Given the description of an element on the screen output the (x, y) to click on. 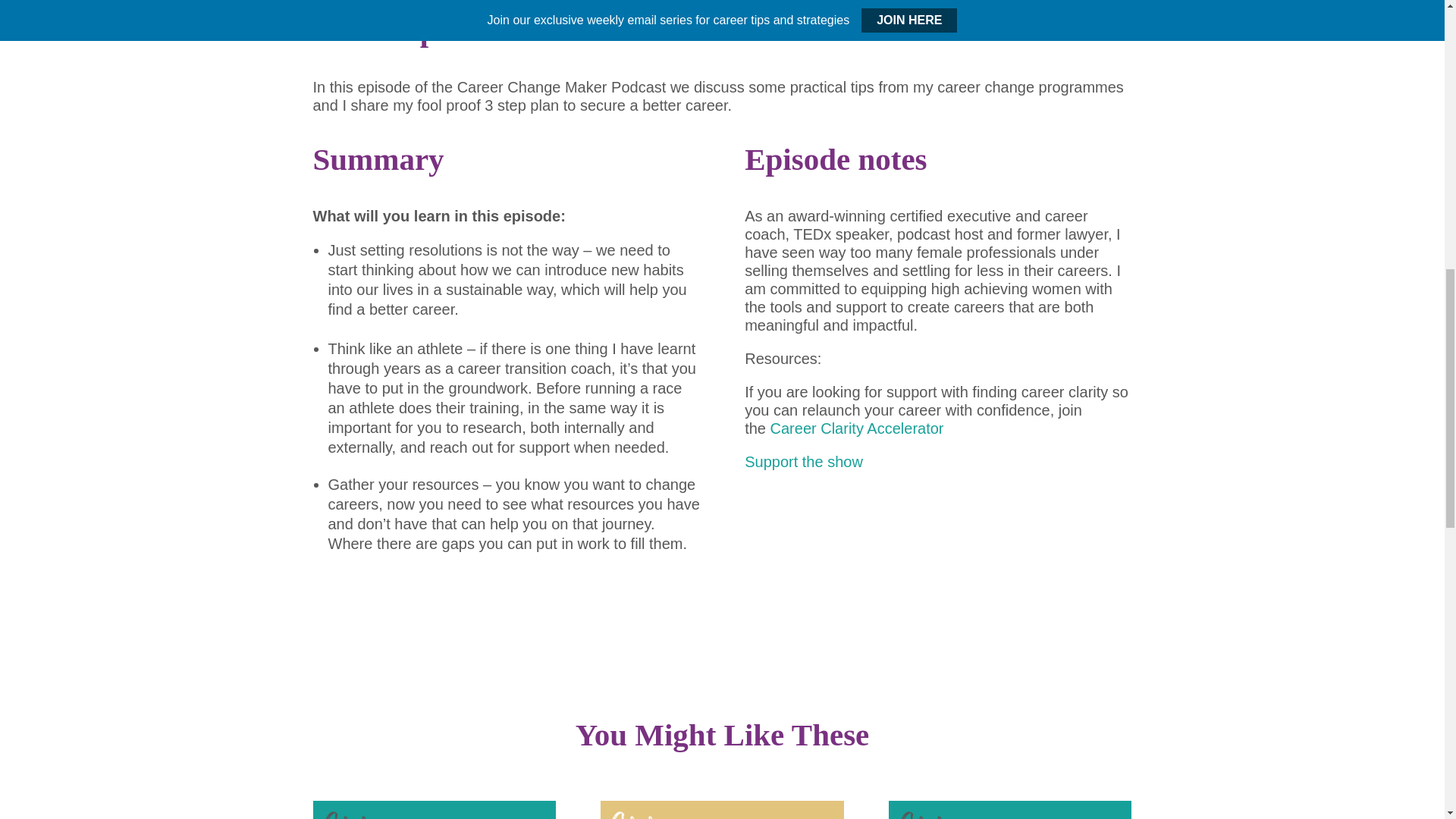
Support the show (803, 461)
Career Clarity Accelerator (856, 428)
